Given the description of an element on the screen output the (x, y) to click on. 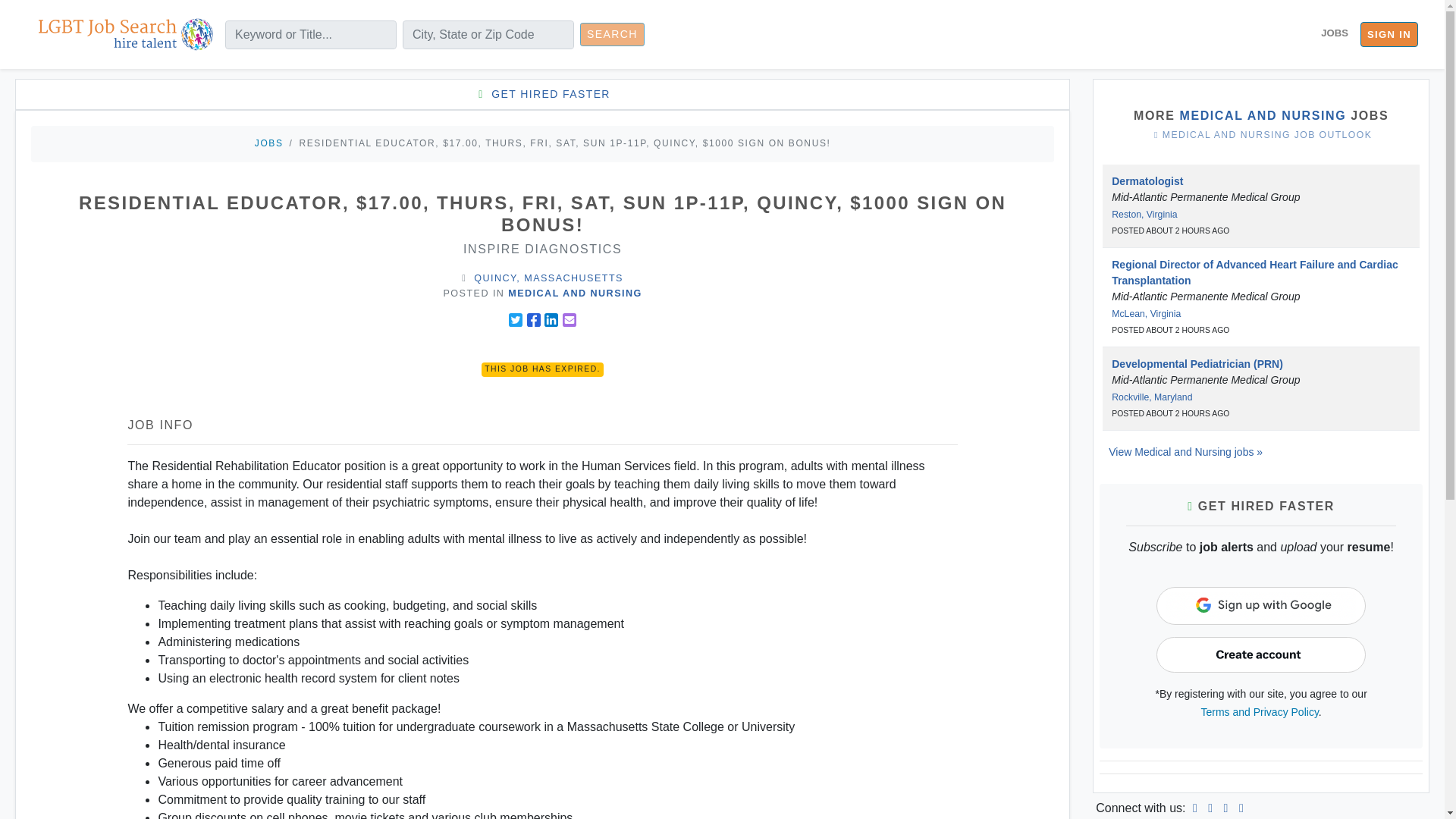
McLean, Virginia (1146, 313)
Rockville, Maryland (1152, 397)
Share to Linkedin (550, 319)
Reston, Virginia (1144, 214)
Email LGBT Job Search (1240, 807)
Dermatologist (1147, 181)
QUINCY, MASSACHUSETTS (548, 277)
SEARCH (612, 33)
Link to Twitter (1225, 807)
